Given the description of an element on the screen output the (x, y) to click on. 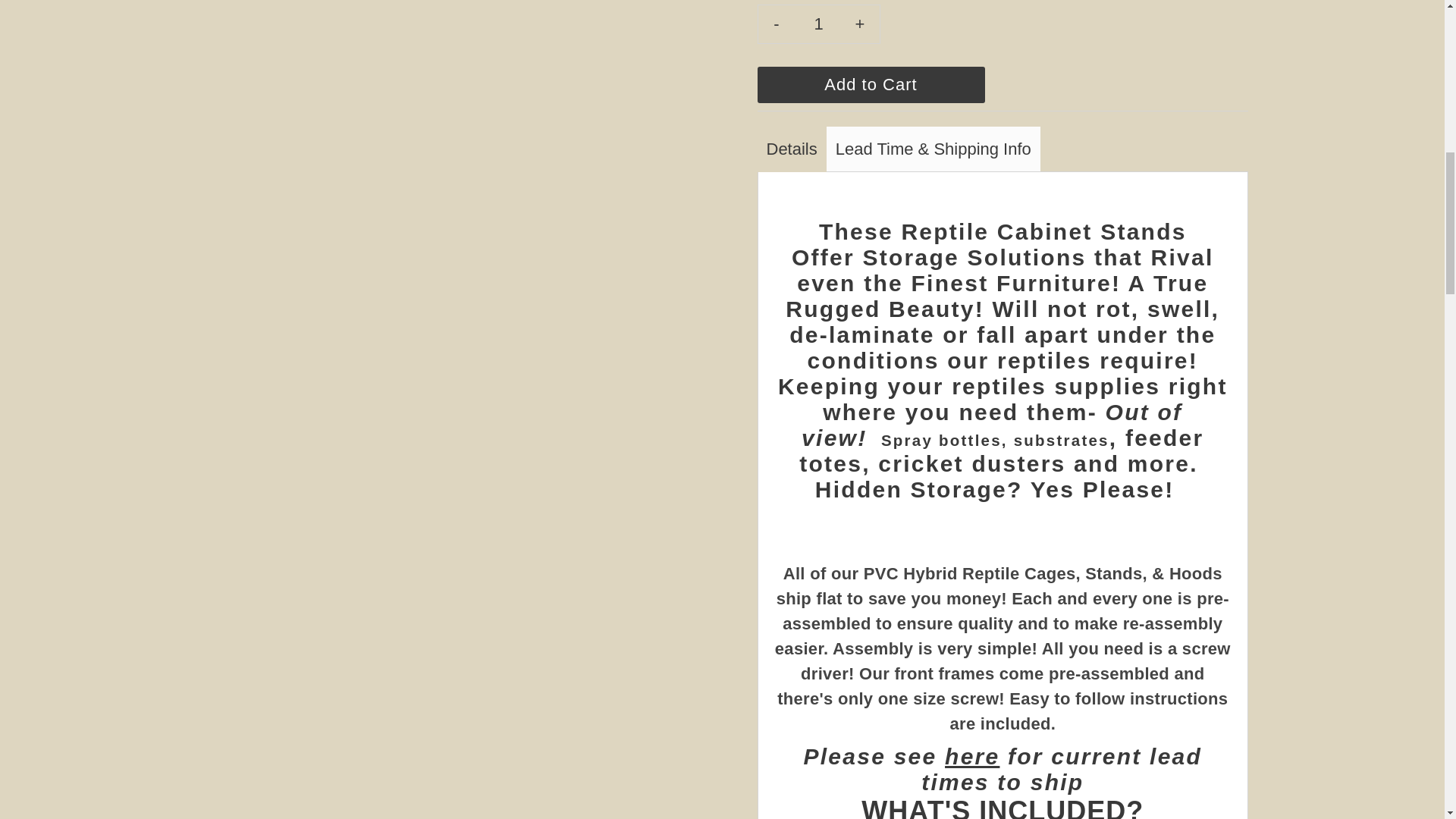
1 (818, 23)
Add to Cart (870, 84)
